Given the description of an element on the screen output the (x, y) to click on. 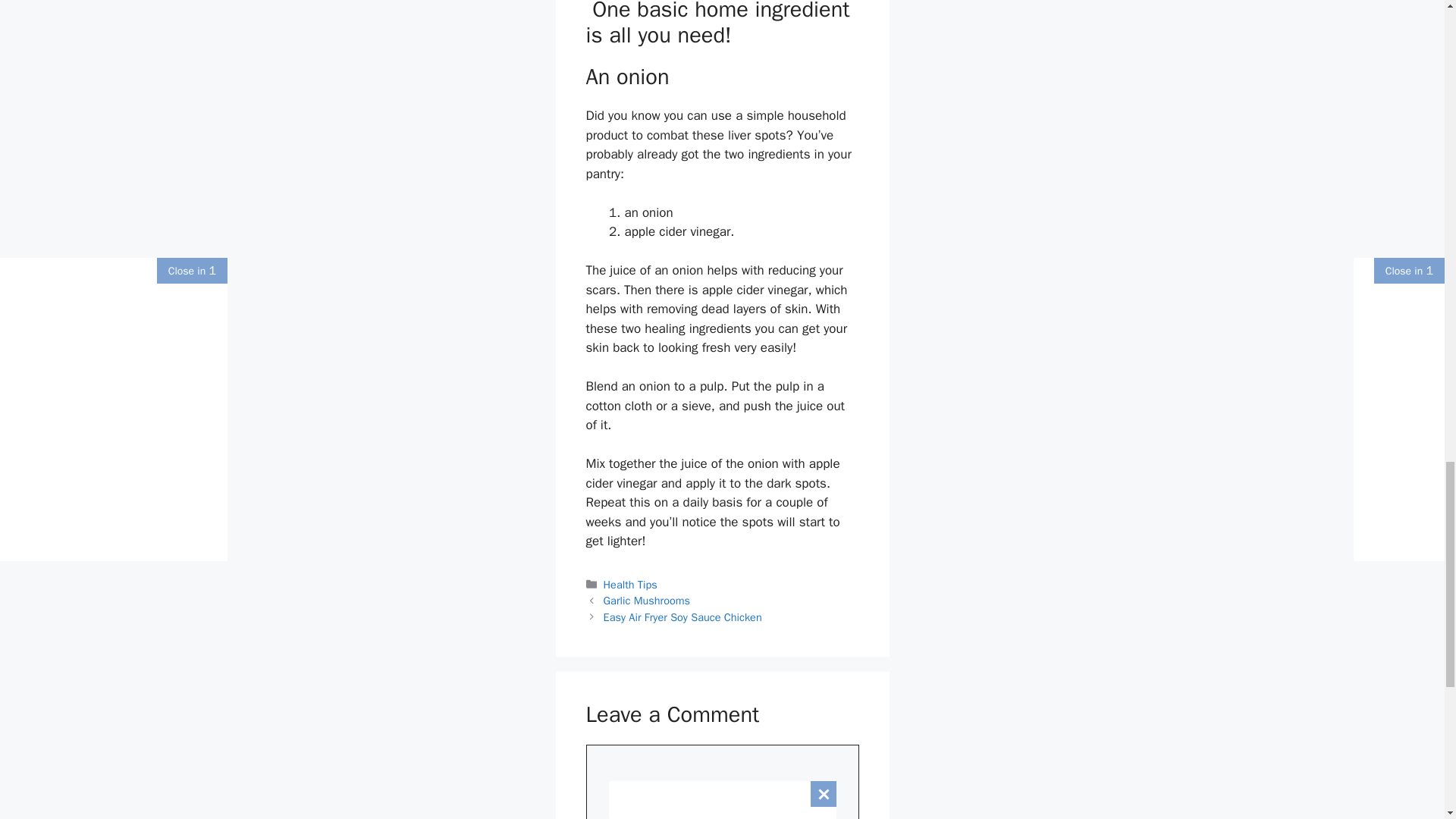
Garlic Mushrooms (647, 600)
Easy Air Fryer Soy Sauce Chicken (682, 617)
Health Tips (631, 584)
